Given the description of an element on the screen output the (x, y) to click on. 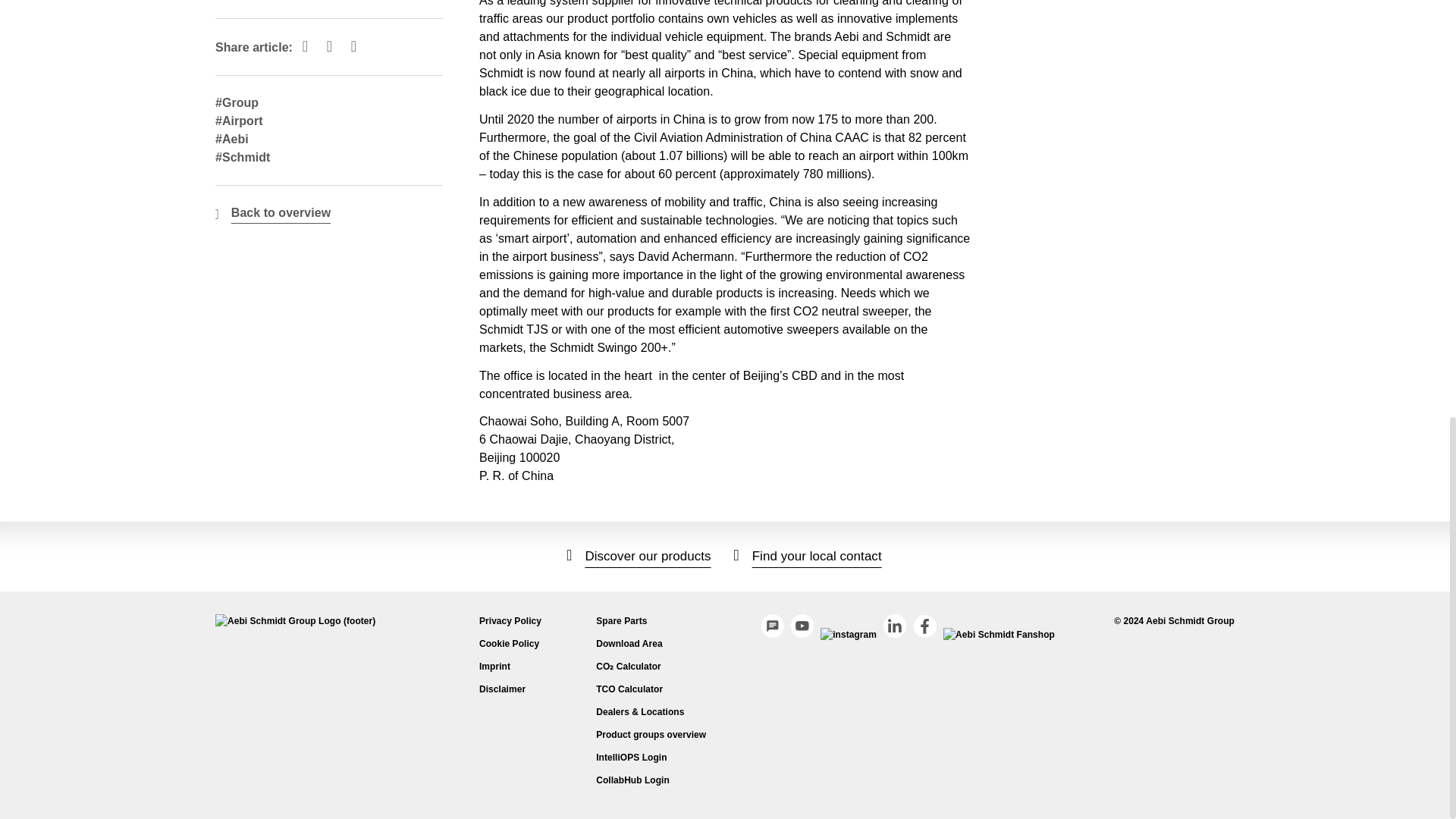
Find your local contact (808, 555)
Discover our products (638, 555)
sweeper (884, 310)
